Given the description of an element on the screen output the (x, y) to click on. 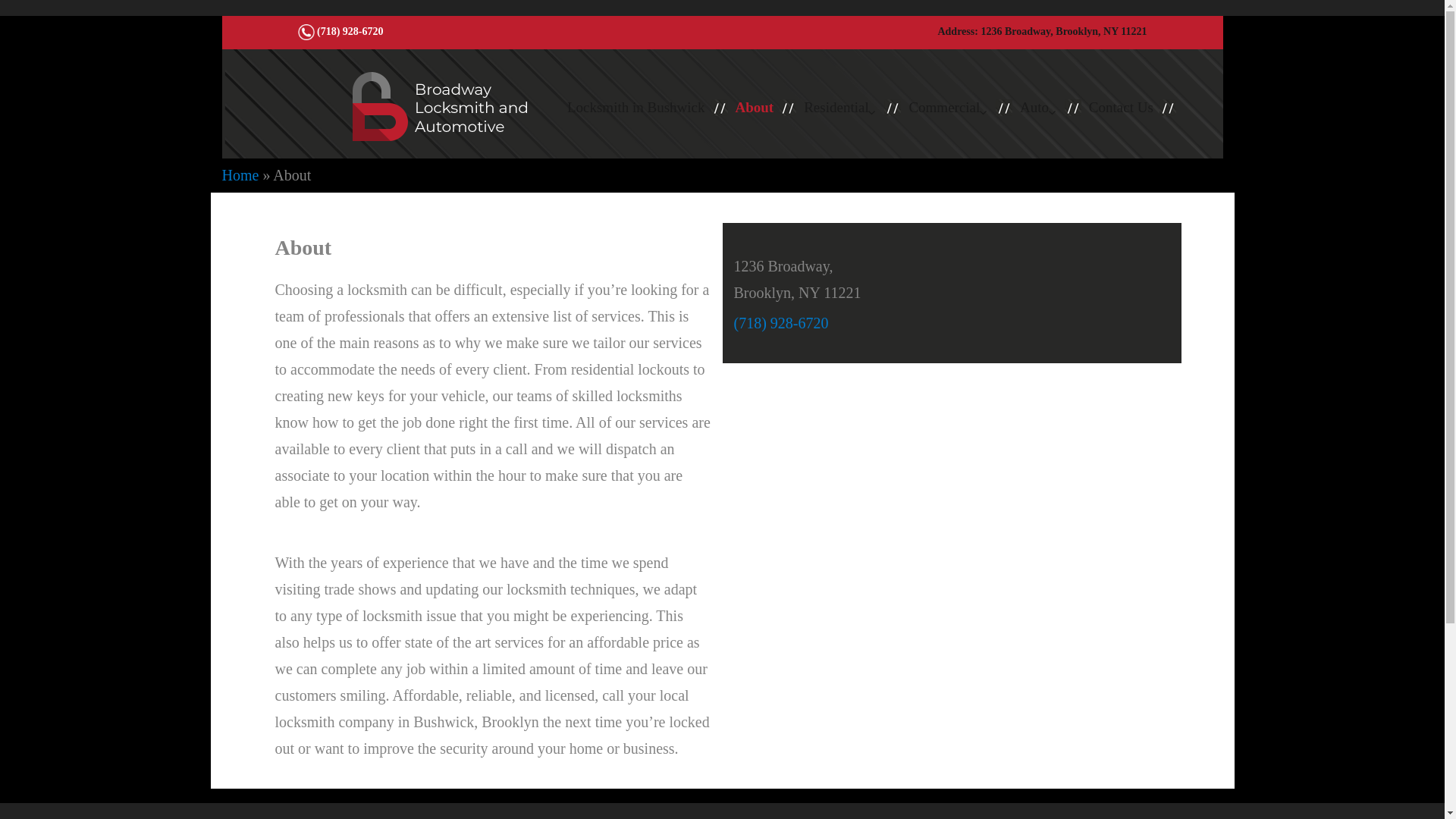
Residential (848, 107)
Locksmith in Bushwick (636, 107)
Broadway Locksmith and Automotive (454, 111)
Contact Us (1120, 107)
Commercial (956, 107)
Auto (1046, 107)
About (754, 107)
Home (240, 175)
